Given the description of an element on the screen output the (x, y) to click on. 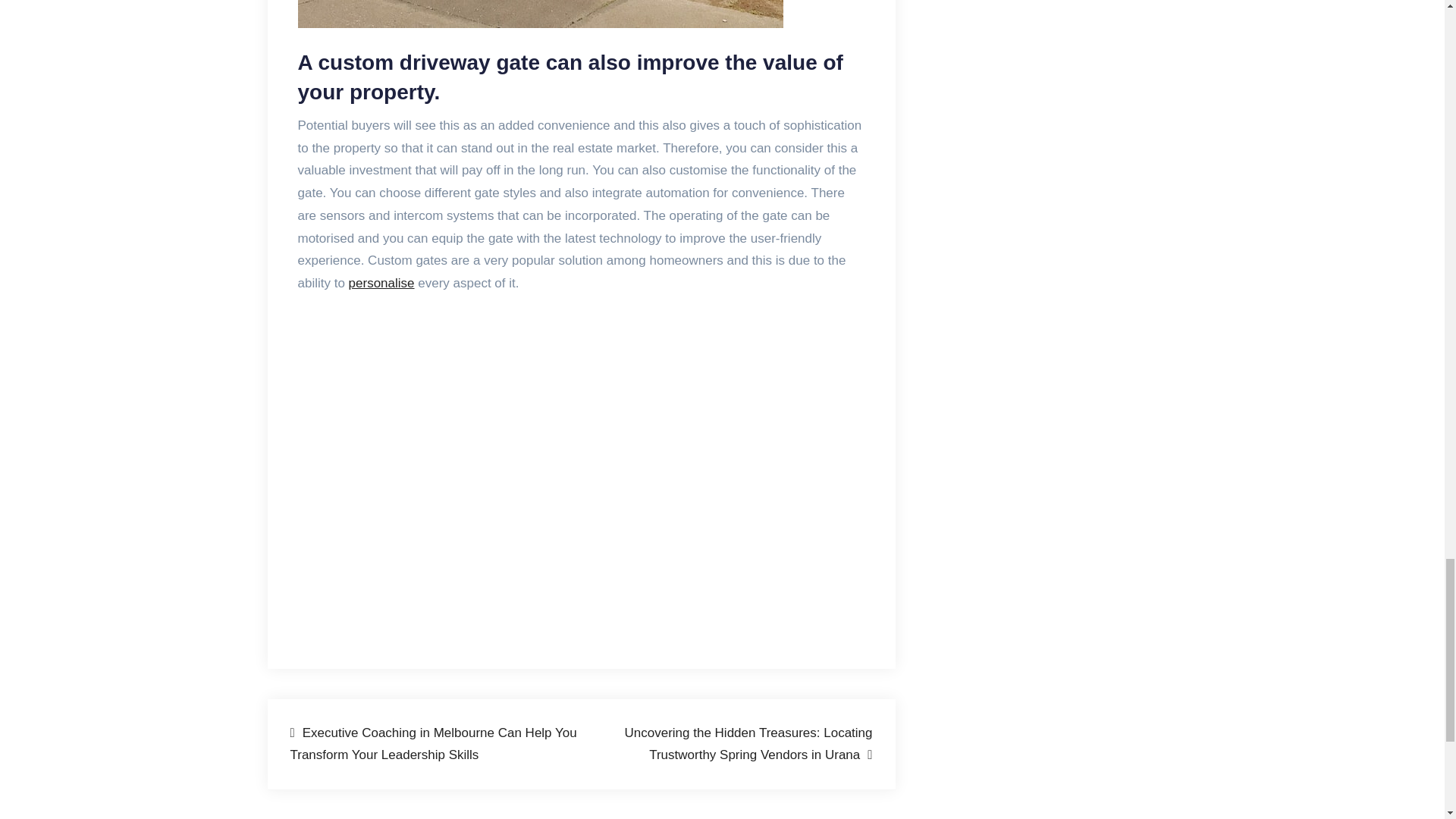
personalise (381, 283)
